Given the description of an element on the screen output the (x, y) to click on. 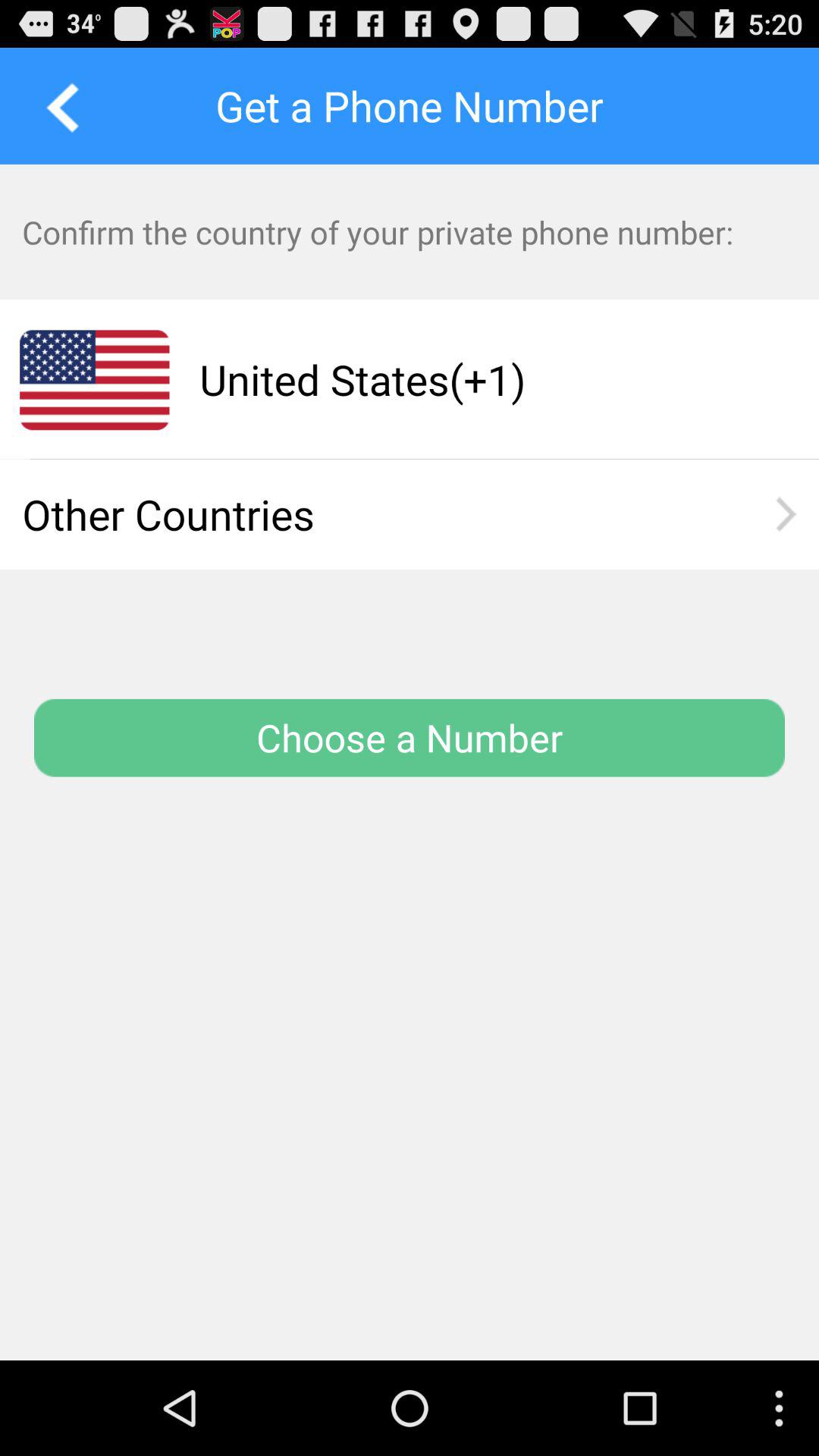
choose united states(+1) app (479, 378)
